Given the description of an element on the screen output the (x, y) to click on. 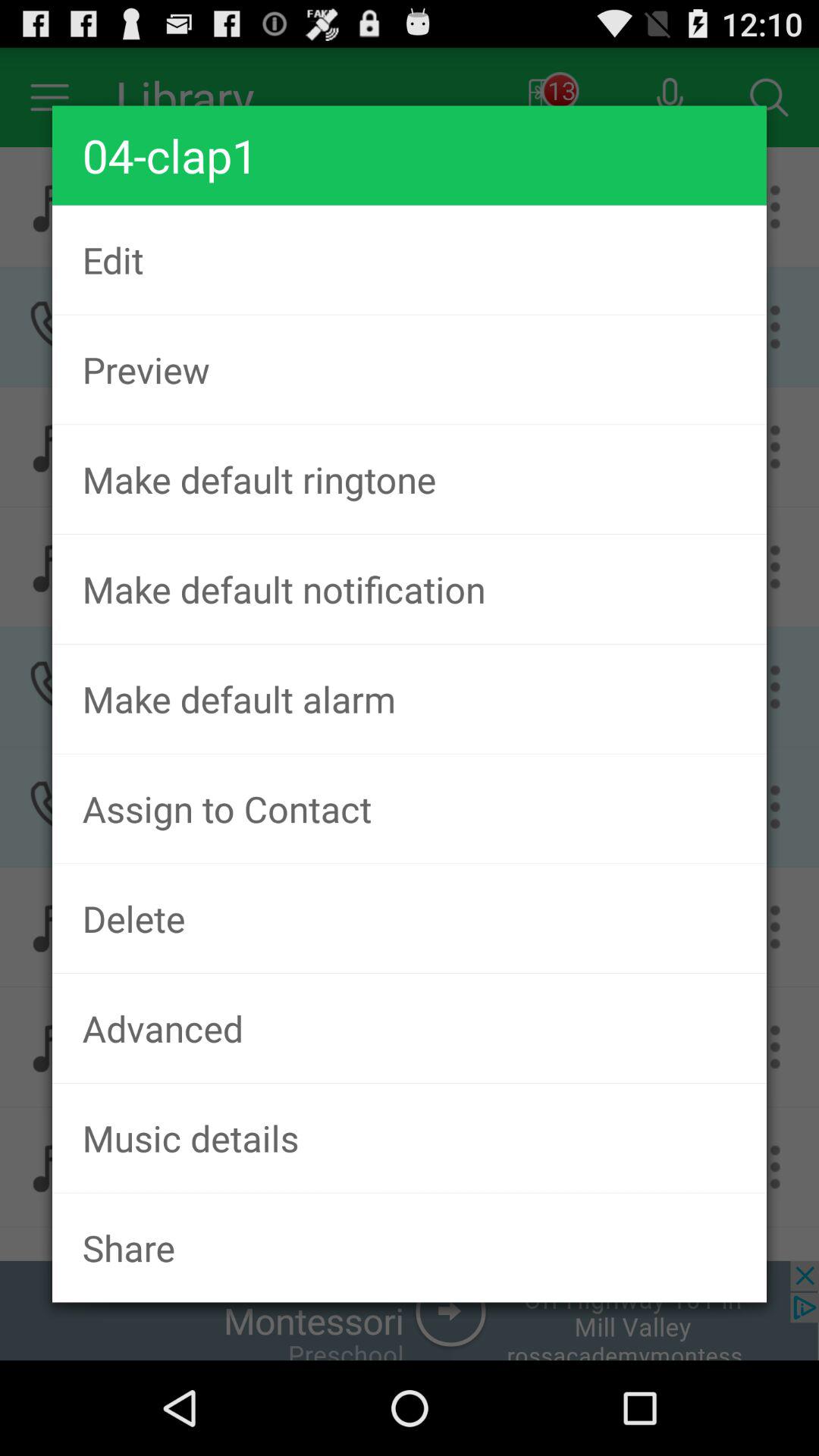
jump to the edit item (409, 259)
